Given the description of an element on the screen output the (x, y) to click on. 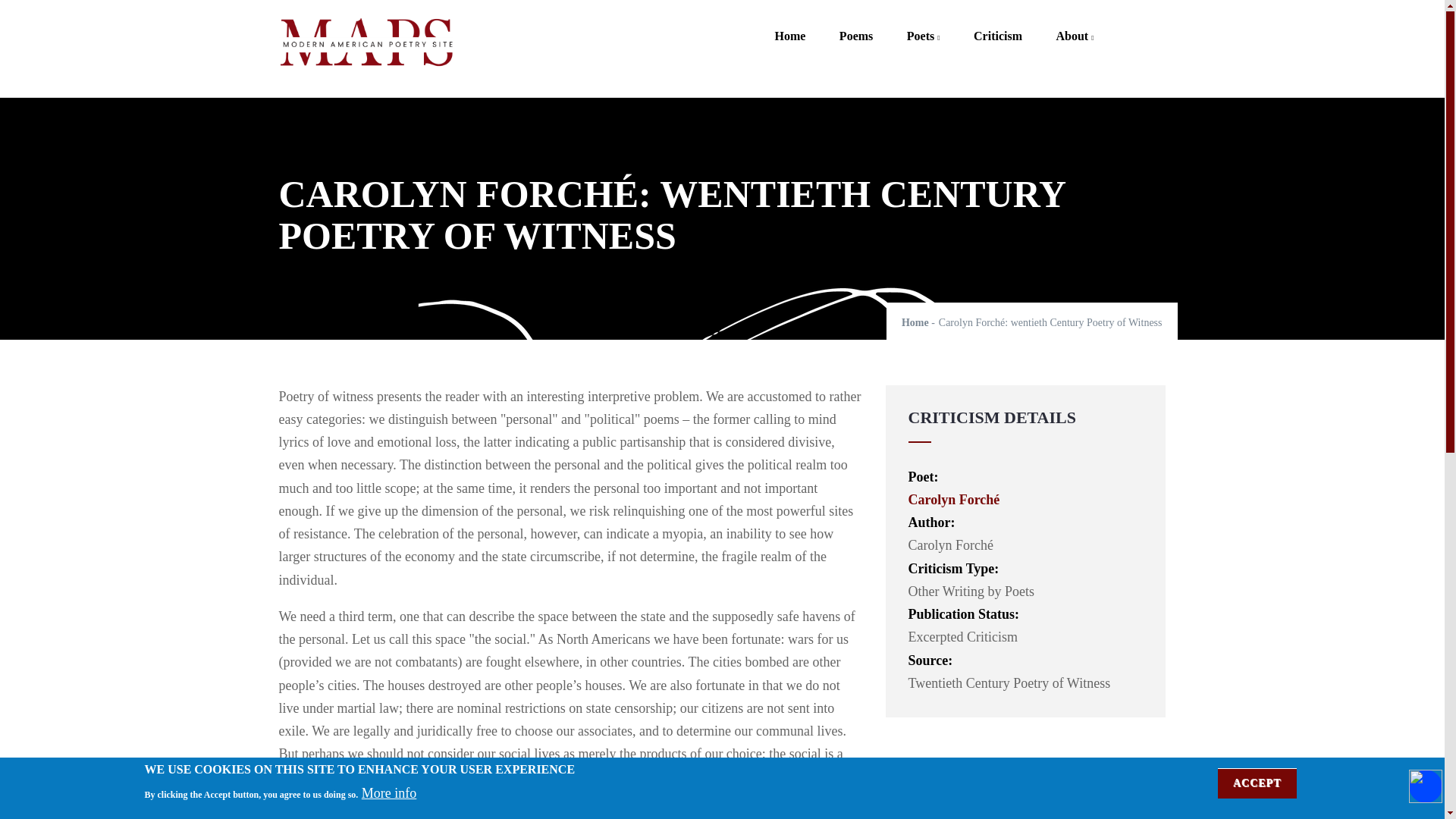
ACCEPT (1257, 783)
About (1075, 25)
Home (365, 44)
Home (914, 322)
Accessibility Menu (1425, 786)
Poets (923, 25)
Criticism (997, 25)
More info (388, 793)
Home (789, 25)
Poems (856, 25)
